Given the description of an element on the screen output the (x, y) to click on. 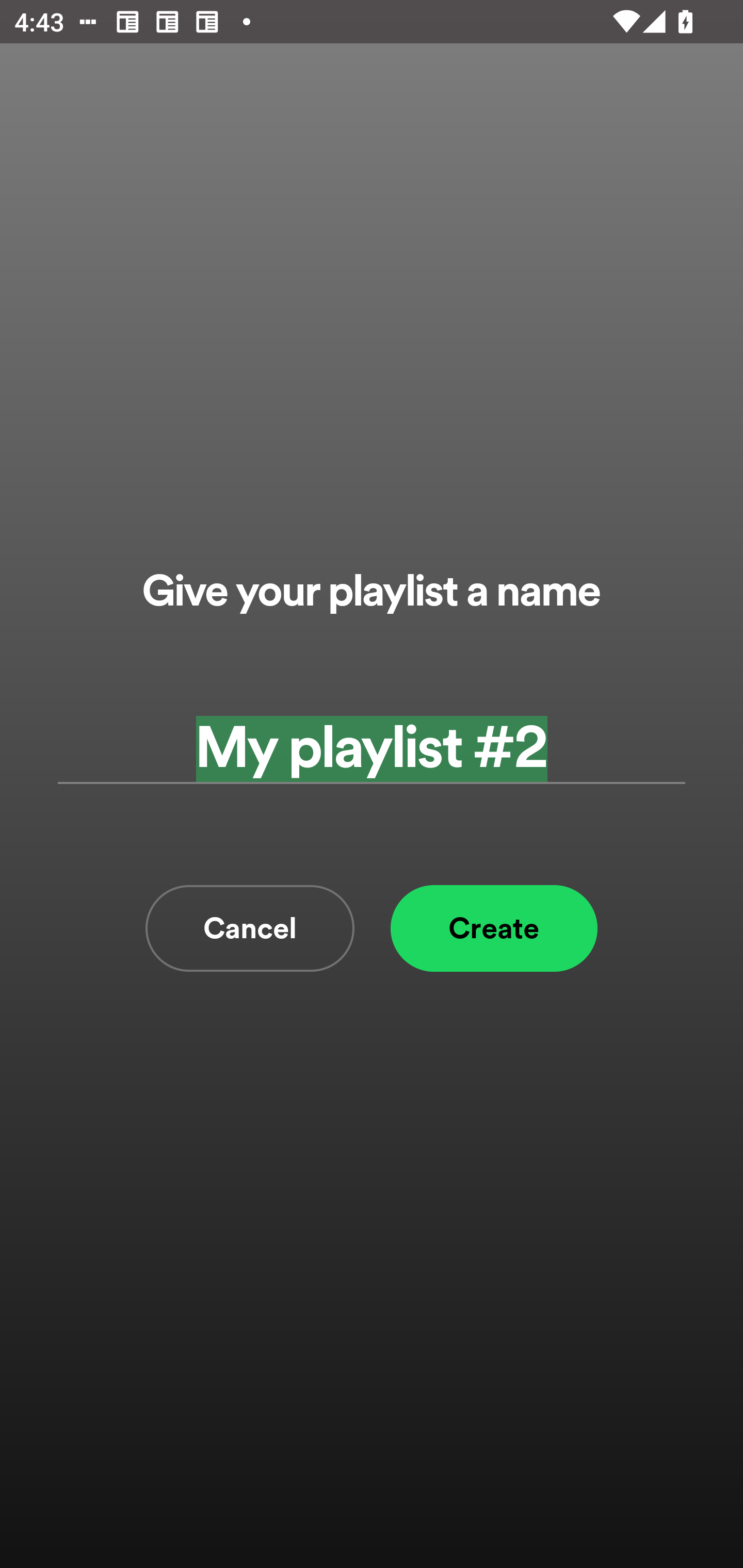
My playlist #2 Add a playlist name (371, 749)
Cancel (249, 928)
Create (493, 928)
